Given the description of an element on the screen output the (x, y) to click on. 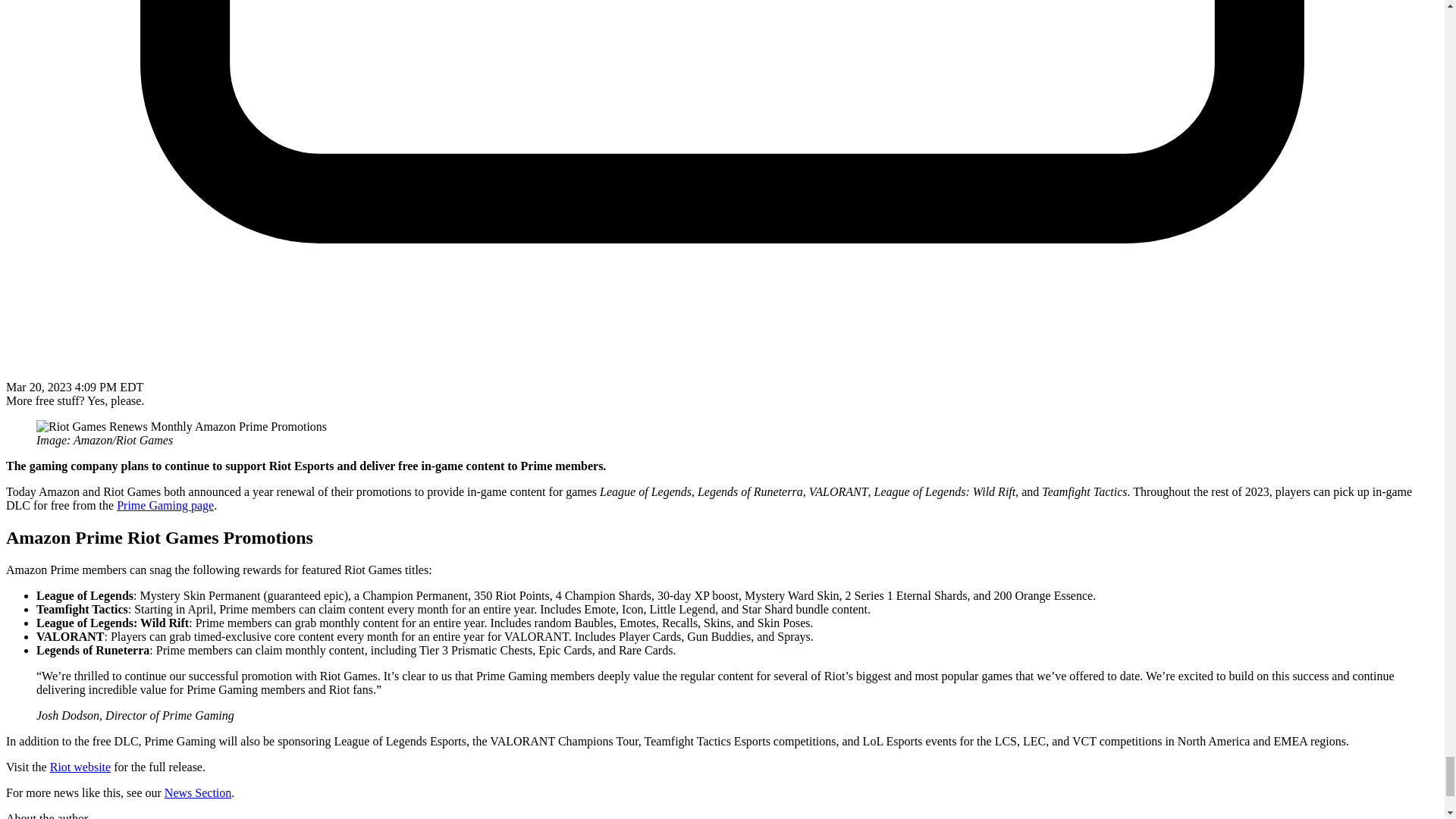
Prime Gaming page (165, 504)
News Section (197, 792)
Riot website (79, 766)
